Given the description of an element on the screen output the (x, y) to click on. 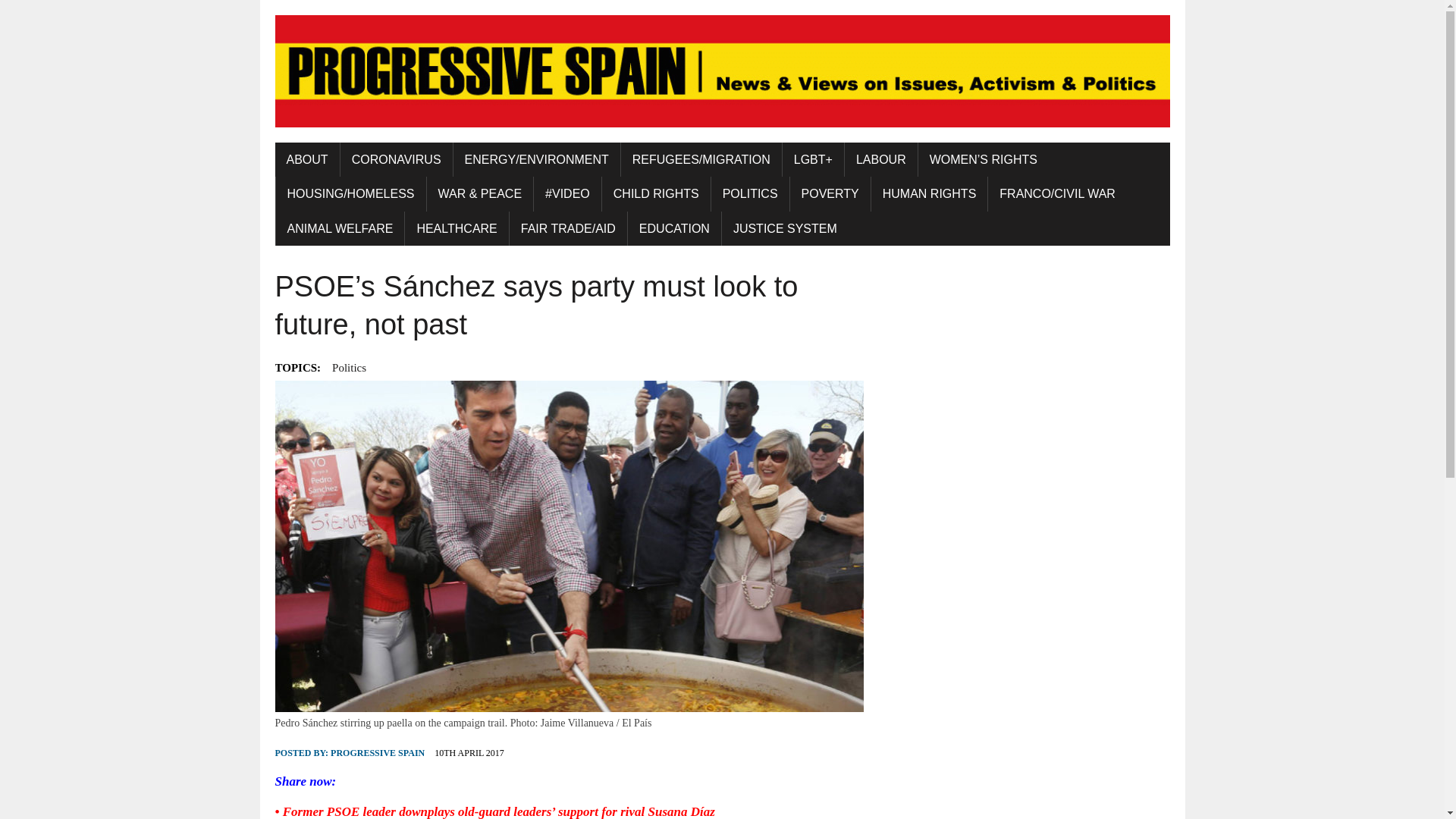
EDUCATION (673, 228)
CHILD RIGHTS (656, 193)
POVERTY (830, 193)
POLITICS (750, 193)
Progressive Spain (722, 71)
JUSTICE SYSTEM (785, 228)
CORONAVIRUS (396, 159)
HUMAN RIGHTS (929, 193)
ABOUT (307, 159)
HEALTHCARE (456, 228)
